Given the description of an element on the screen output the (x, y) to click on. 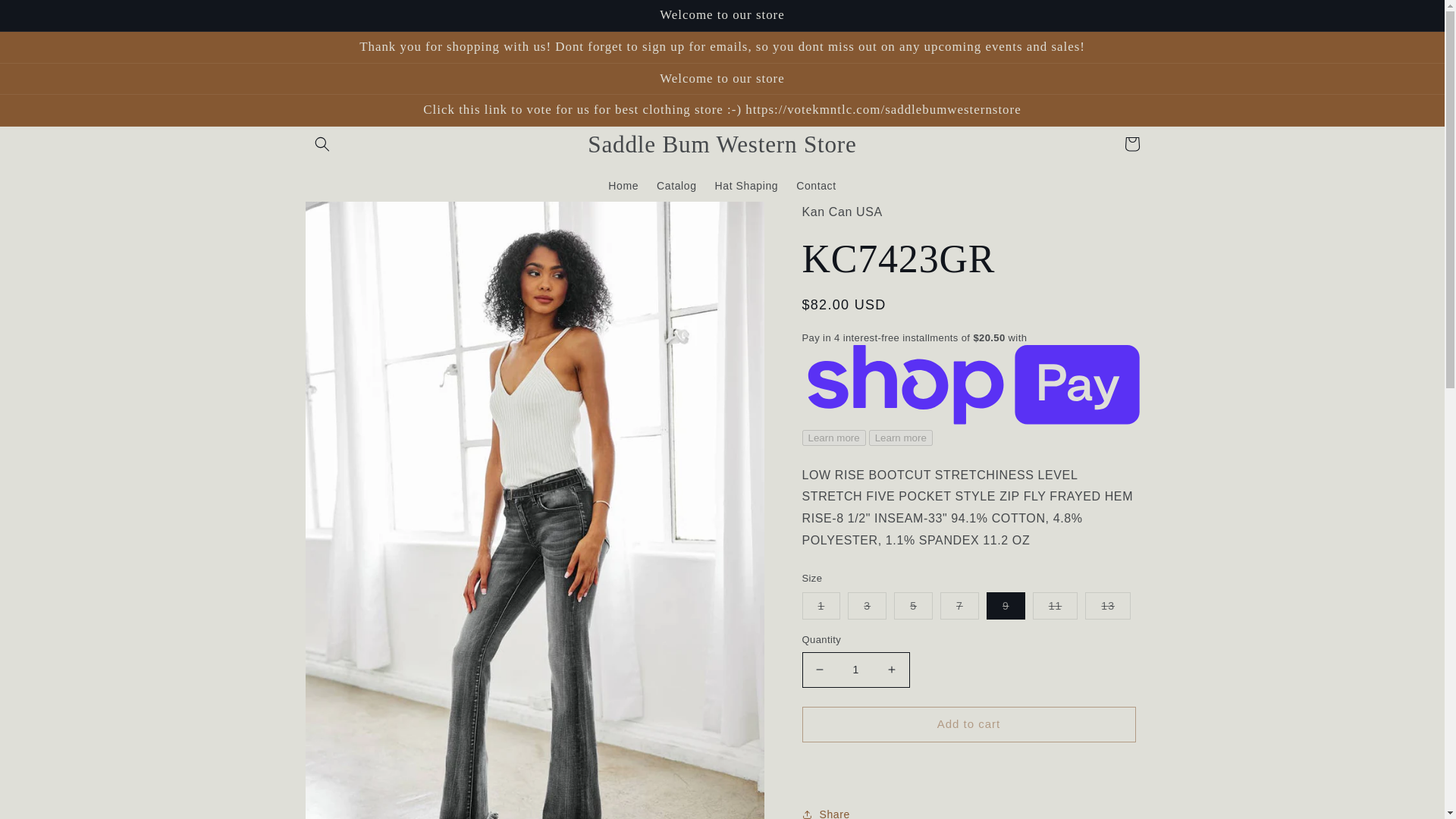
Decrease quantity for KC7423GR (818, 669)
Catalog (675, 185)
1 (856, 669)
Skip to content (45, 17)
Contact (815, 185)
Skip to product information (350, 218)
Increase quantity for KC7423GR (891, 669)
Hat Shaping (746, 185)
Cart (1131, 143)
Saddle Bum Western Store (721, 143)
